Given the description of an element on the screen output the (x, y) to click on. 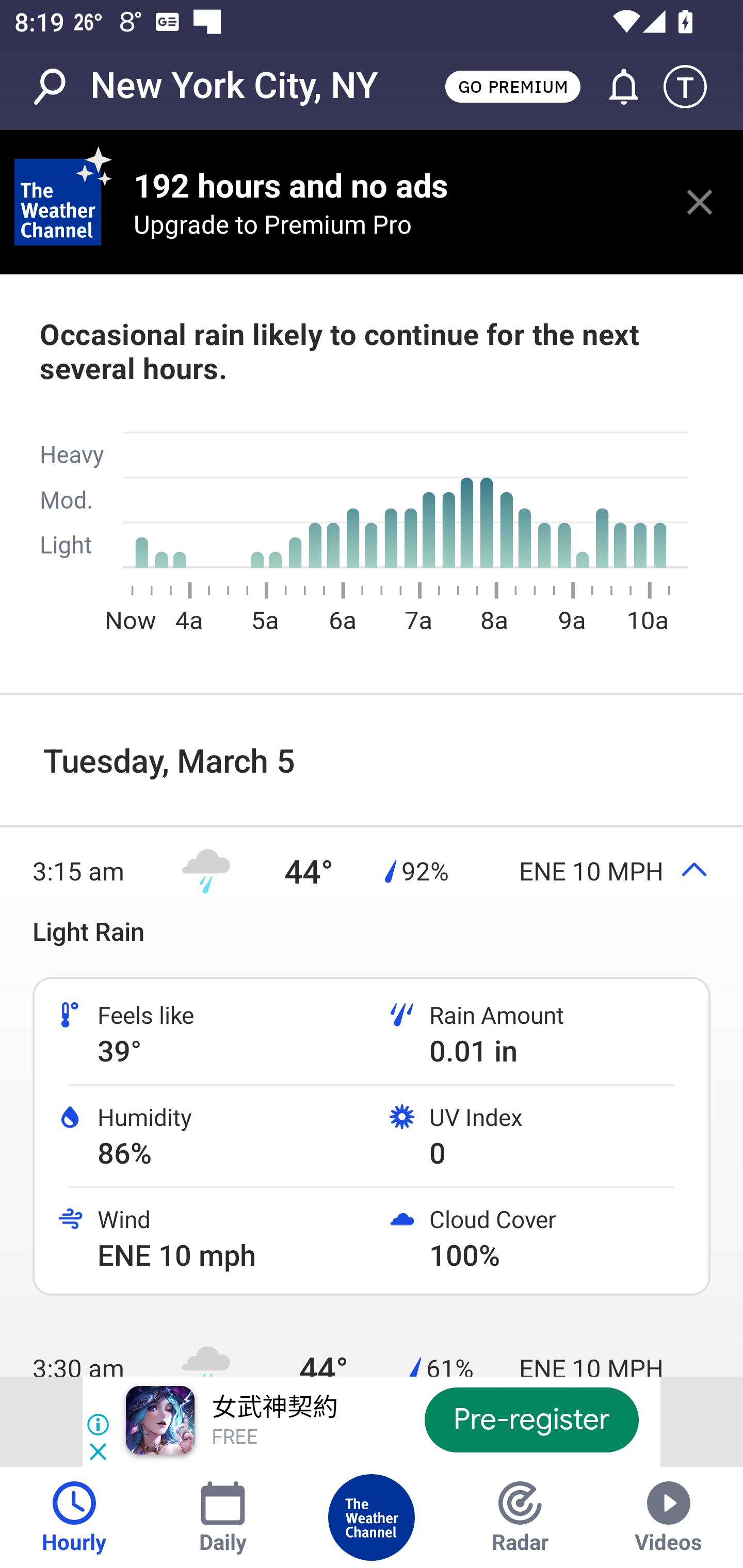
Search (59, 86)
Go to Alerts and Notifications (614, 86)
Setting icon T (694, 86)
New York City, NY (234, 85)
GO PREMIUM (512, 85)
close this (699, 202)
3:15 am 44° 92% ENE 10 MPH (371, 870)
Pre-register (530, 1419)
女武神契約 (274, 1407)
FREE (234, 1437)
Daily Tab Daily (222, 1517)
Home Tab (371, 1517)
Radar Tab Radar (519, 1517)
Videos Tab Videos (668, 1517)
